Given the description of an element on the screen output the (x, y) to click on. 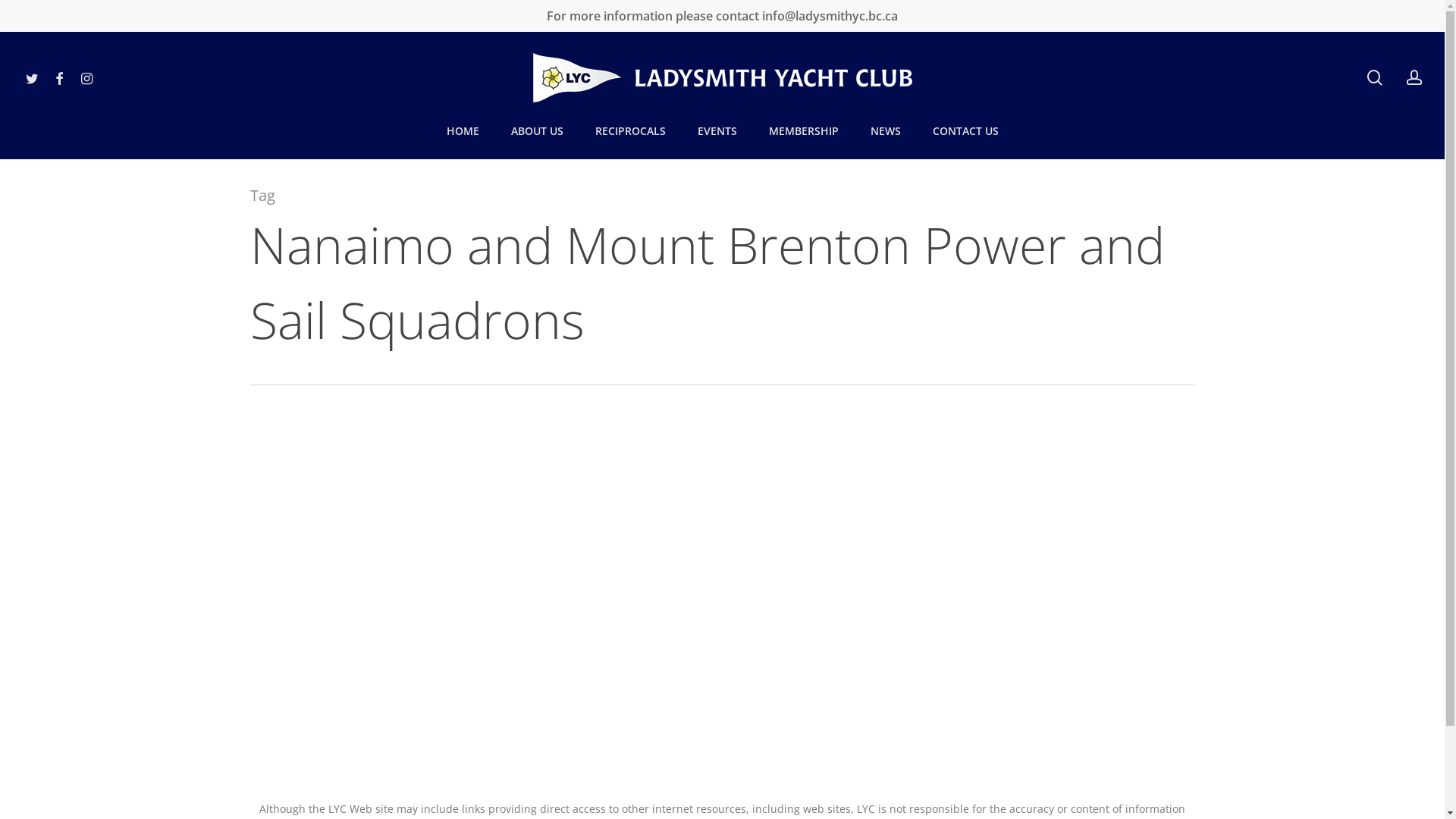
CONTACT US Element type: text (964, 130)
NEWS Element type: text (884, 130)
RECIPROCALS Element type: text (630, 130)
facebook Element type: text (58, 77)
account Element type: text (1414, 77)
EVENTS Element type: text (716, 130)
For more information please contact info@ladysmithyc.bc.ca Element type: text (721, 15)
MEMBERSHIP Element type: text (802, 130)
instagram Element type: text (86, 77)
twitter Element type: text (31, 77)
search Element type: text (1374, 77)
HOME Element type: text (462, 130)
ABOUT US Element type: text (536, 130)
